Given the description of an element on the screen output the (x, y) to click on. 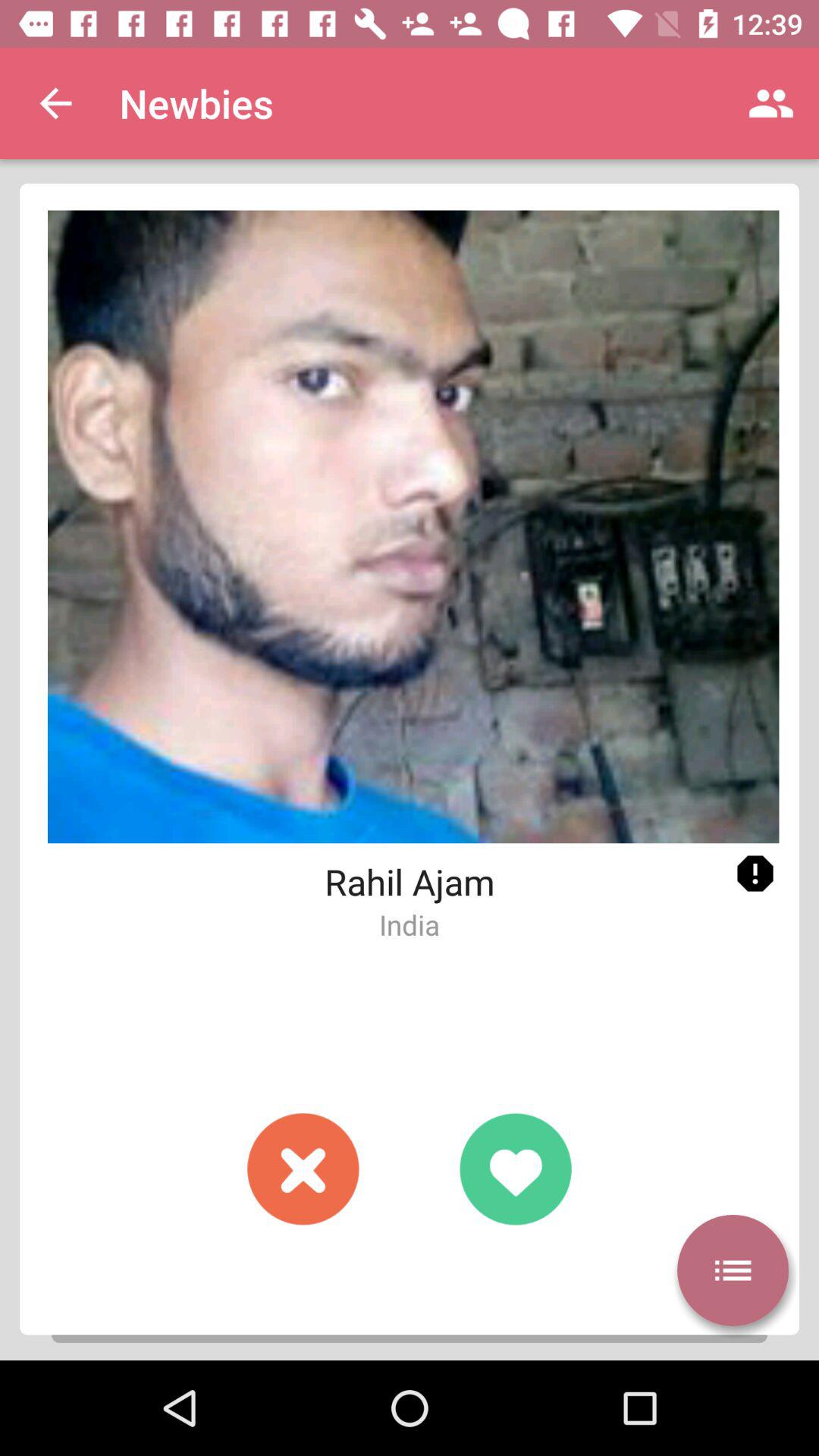
close (303, 1169)
